Given the description of an element on the screen output the (x, y) to click on. 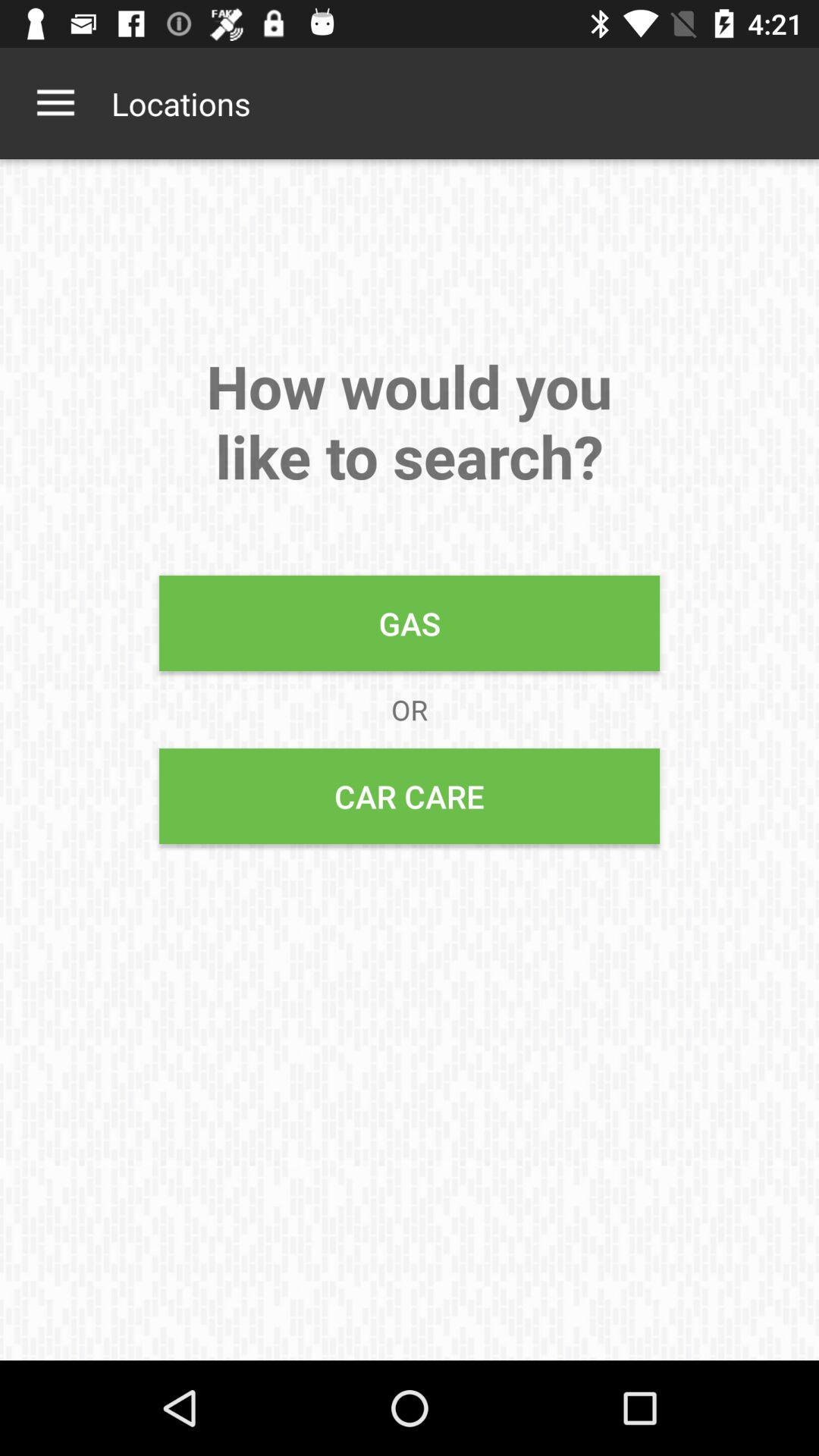
turn on the icon next to the locations item (55, 103)
